Given the description of an element on the screen output the (x, y) to click on. 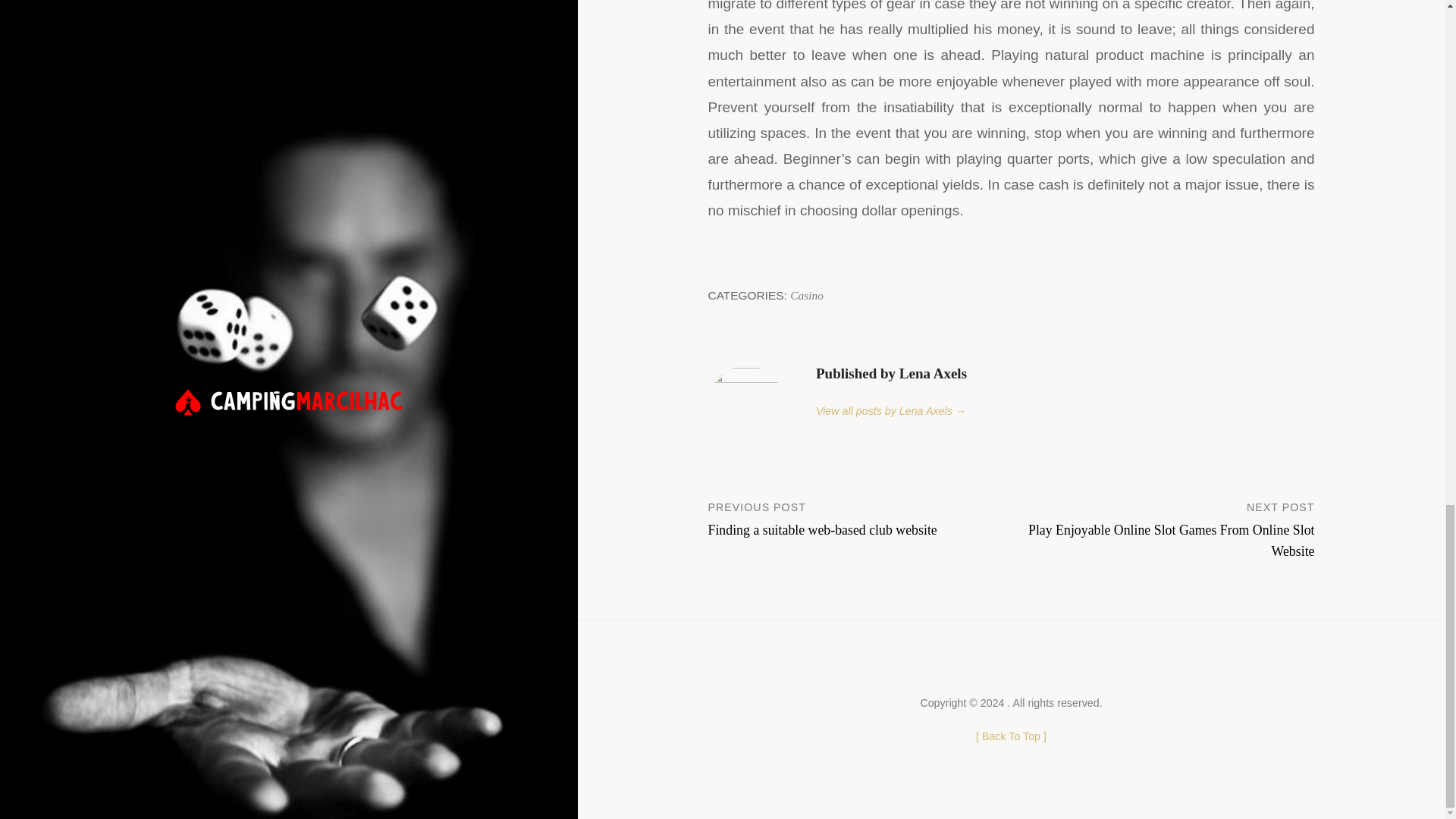
Back To Top (1010, 736)
Casino (807, 295)
